Given the description of an element on the screen output the (x, y) to click on. 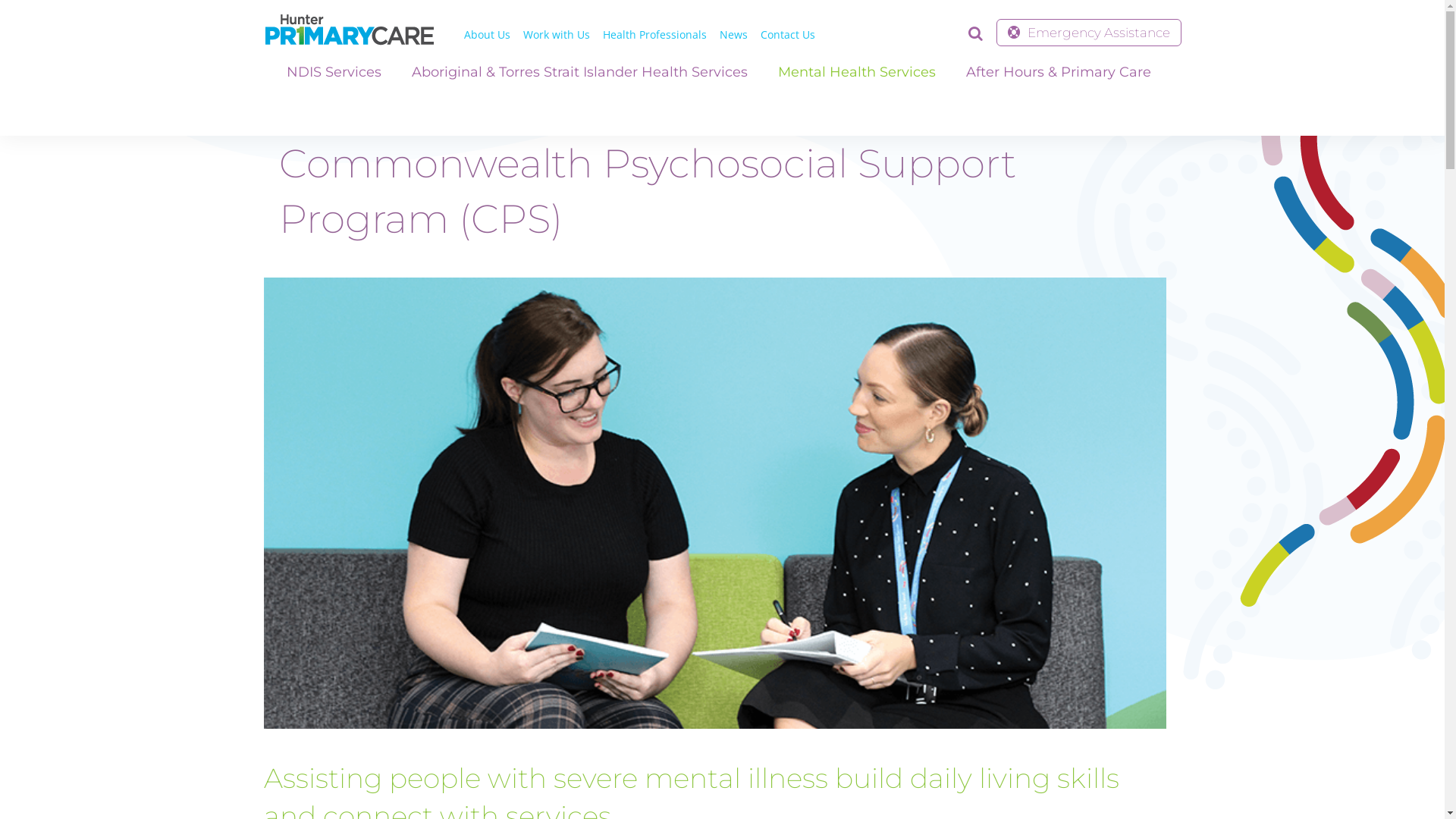
Contact Us Element type: text (786, 34)
Aboriginal & Torres Strait Islander Health Services Element type: text (578, 71)
Work with Us Element type: text (556, 34)
Mental Health Services Element type: text (856, 71)
Health Professionals Element type: text (654, 34)
About Us Element type: text (487, 34)
News Element type: text (732, 34)
NDIS Services Element type: text (333, 71)
After Hours & Primary Care Element type: text (1058, 71)
Emergency Assistance Element type: text (1088, 32)
